Given the description of an element on the screen output the (x, y) to click on. 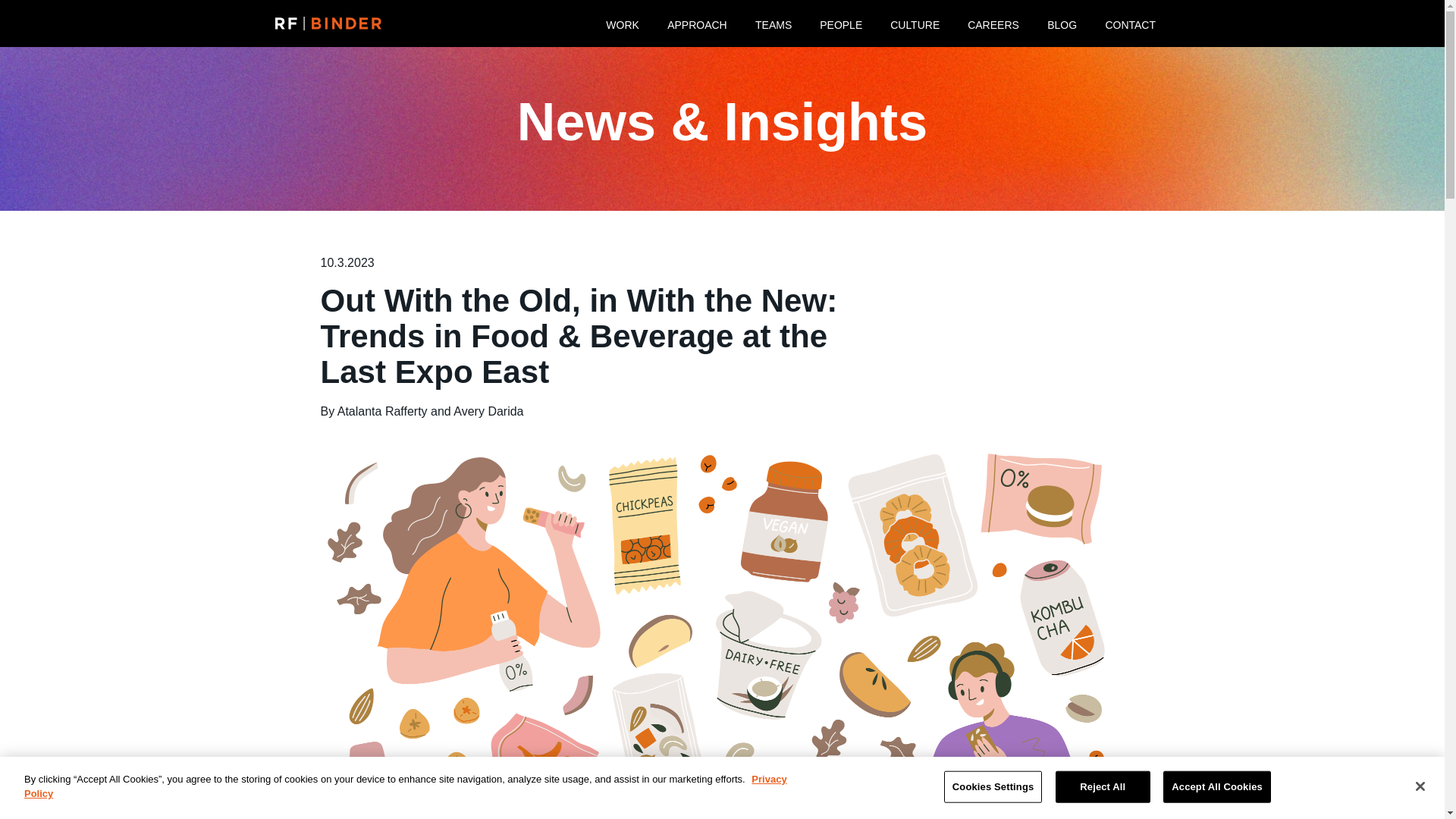
APPROACH (696, 23)
CONTACT (1130, 23)
TEAMS (773, 23)
CULTURE (914, 23)
BLOG (1061, 23)
CAREERS (993, 23)
PEOPLE (841, 23)
WORK (622, 23)
